Given the description of an element on the screen output the (x, y) to click on. 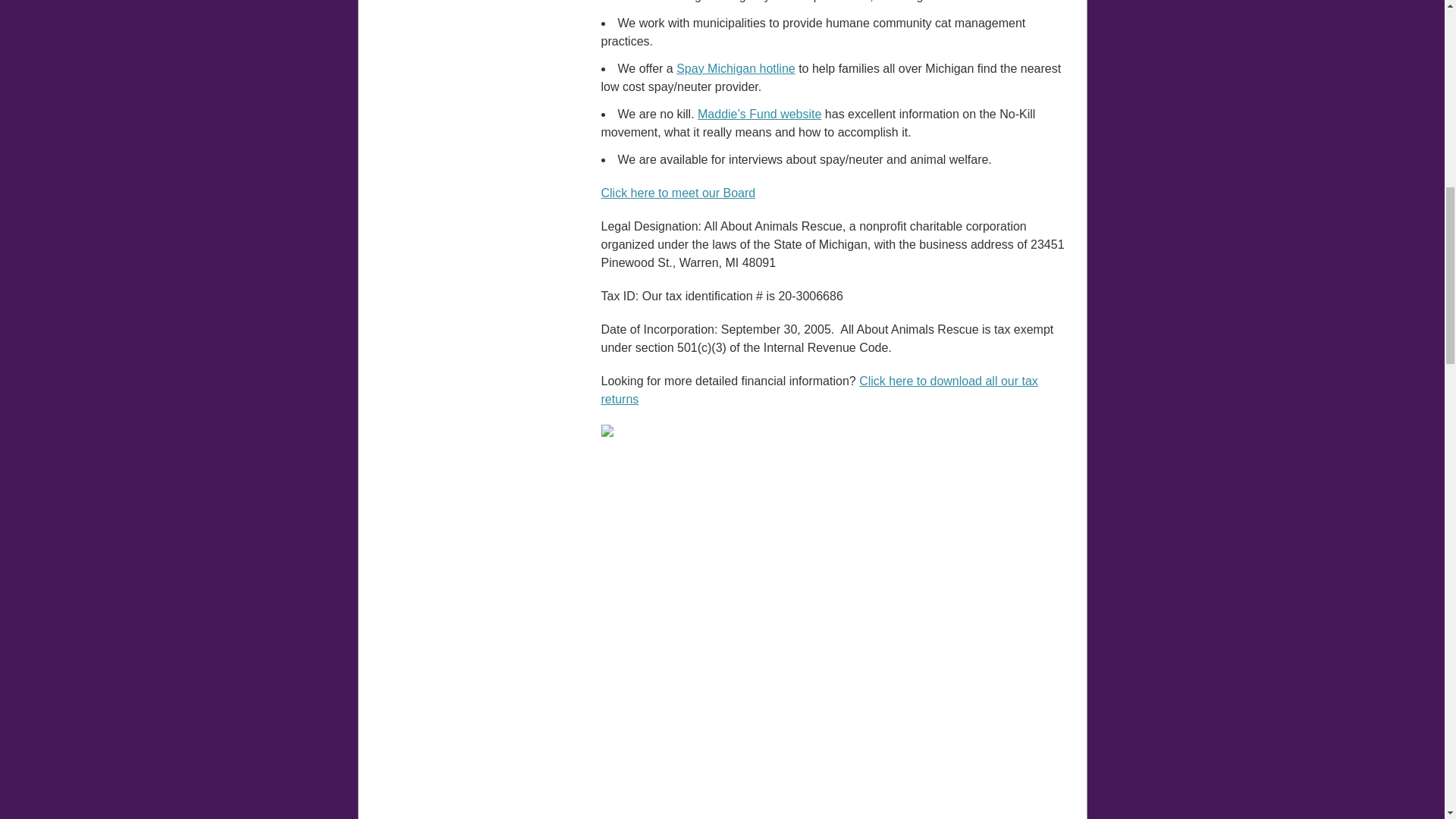
Meet our Board! (677, 192)
